Given the description of an element on the screen output the (x, y) to click on. 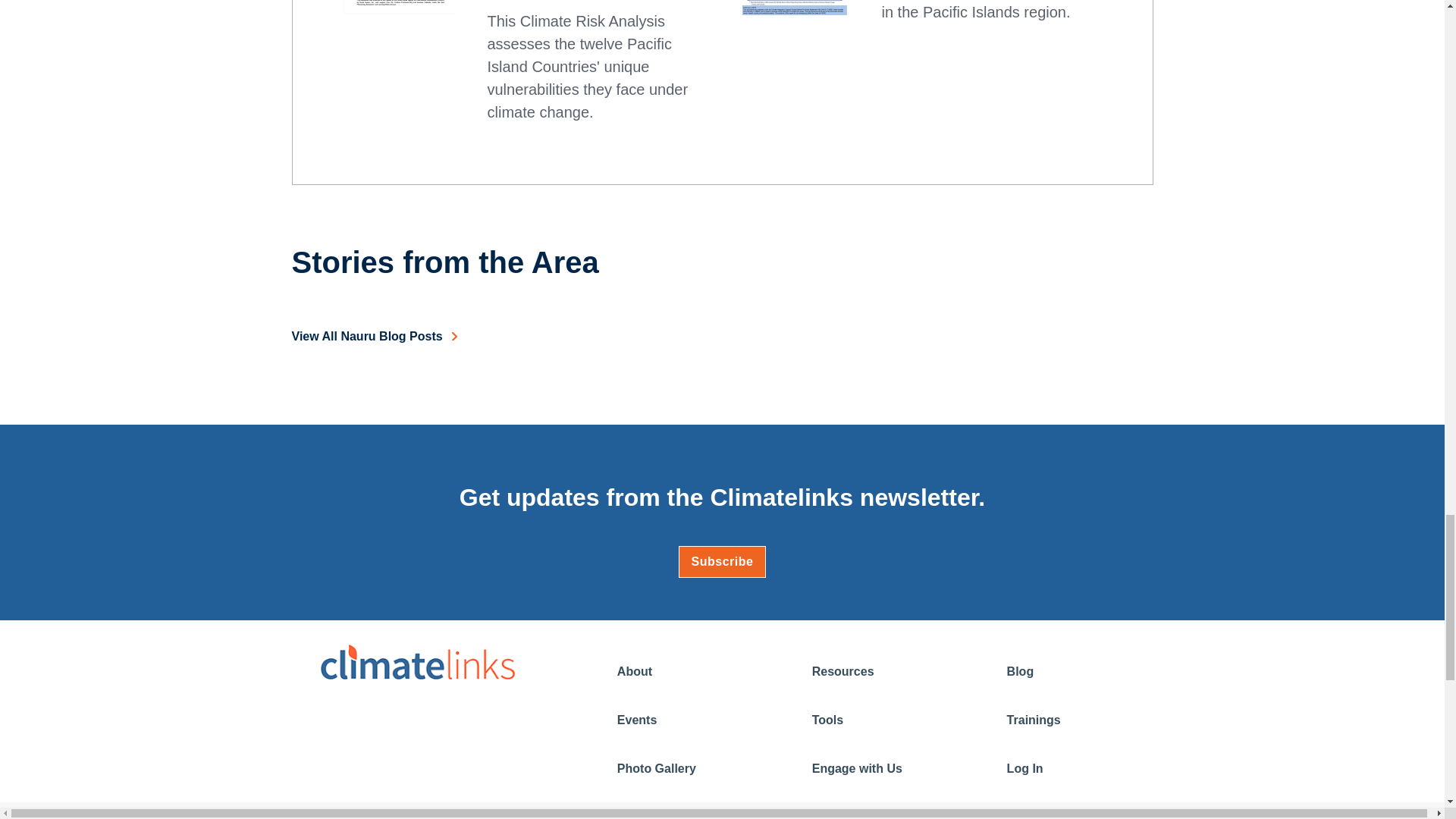
Climate Risk Profile: Pacific Islands (793, 7)
Home (417, 660)
